Given the description of an element on the screen output the (x, y) to click on. 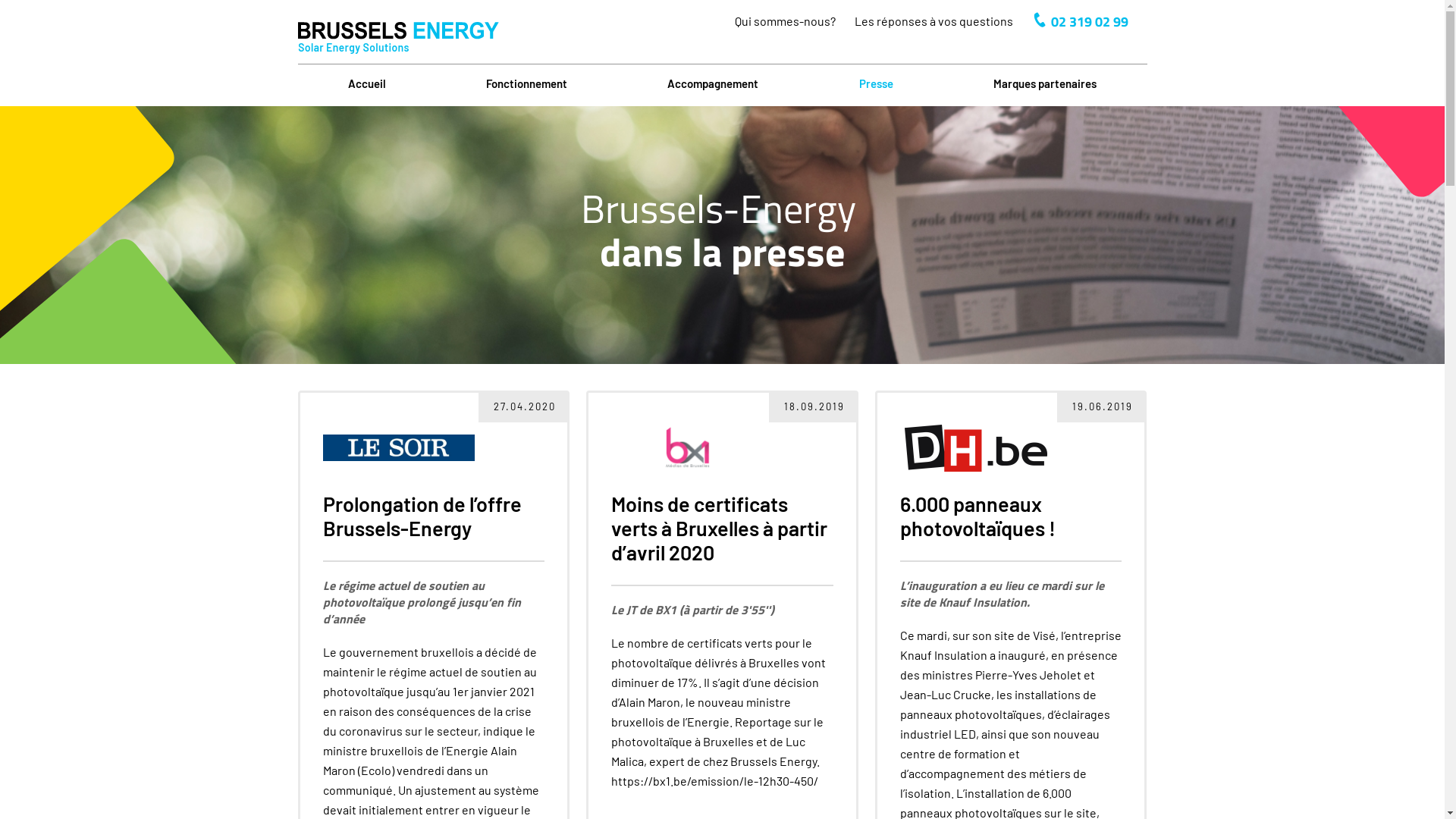
Accompagnement Element type: text (712, 83)
Accueil Element type: text (366, 83)
Fonctionnement Element type: text (526, 83)
Qui sommes-nous? Element type: text (784, 21)
Marques partenaires Element type: text (1044, 83)
Presse Element type: text (875, 83)
